Given the description of an element on the screen output the (x, y) to click on. 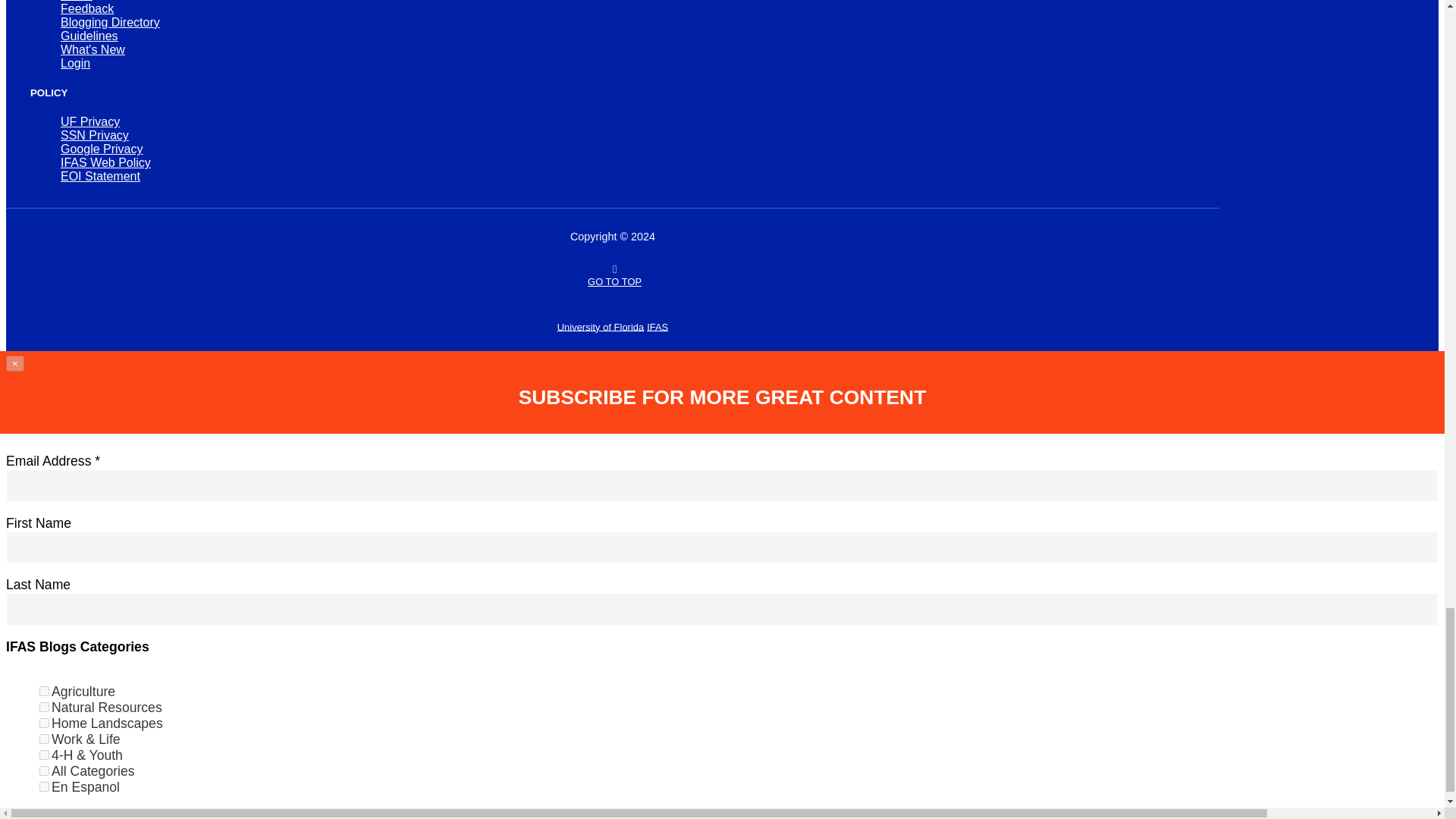
1 (44, 691)
8 (44, 738)
2 (44, 706)
64 (44, 786)
32 (44, 770)
16 (44, 755)
4 (44, 723)
